Given the description of an element on the screen output the (x, y) to click on. 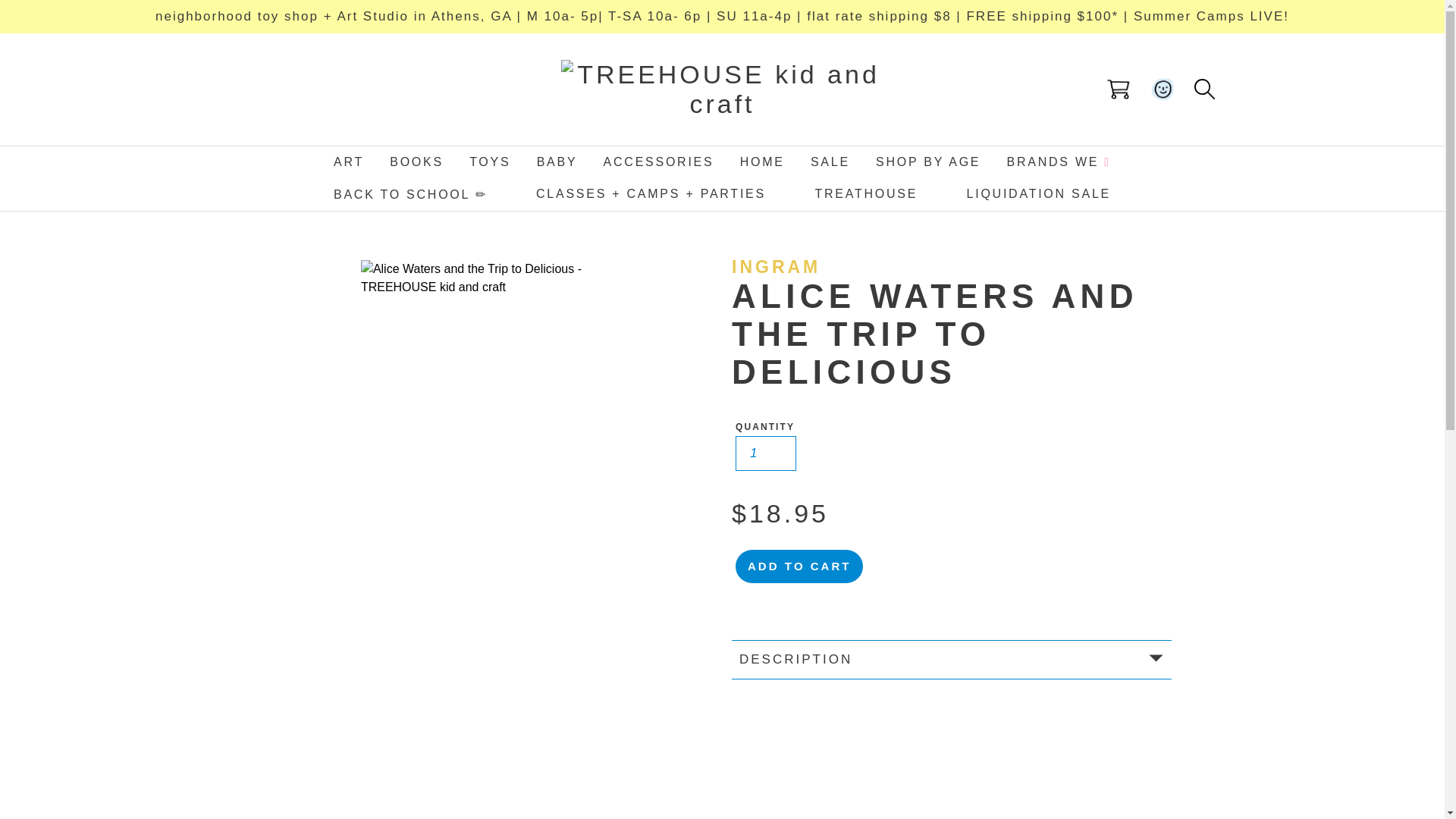
1 (765, 452)
Log in (1162, 89)
Cart (1119, 89)
